Given the description of an element on the screen output the (x, y) to click on. 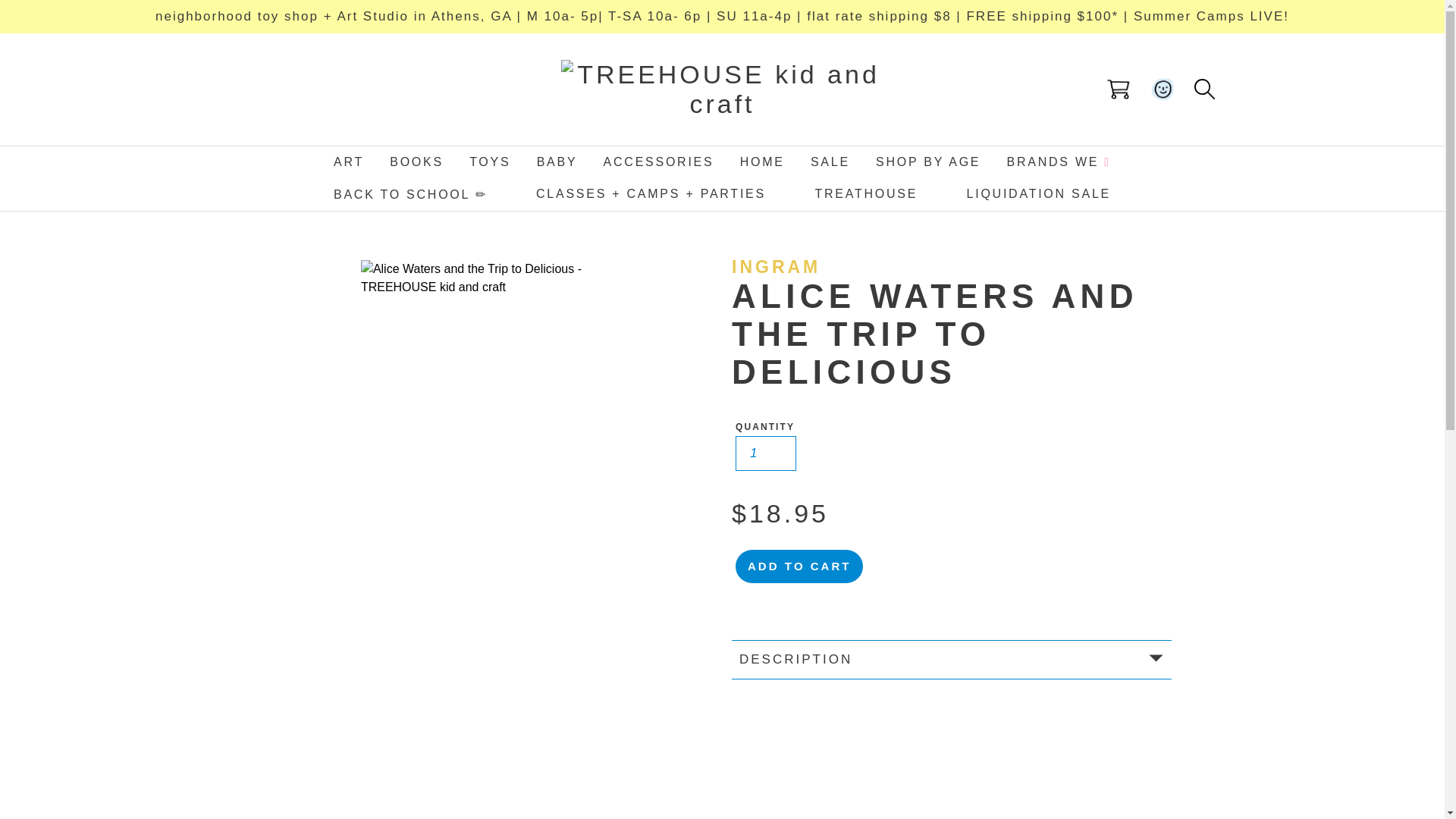
1 (765, 452)
Log in (1162, 89)
Cart (1119, 89)
